Given the description of an element on the screen output the (x, y) to click on. 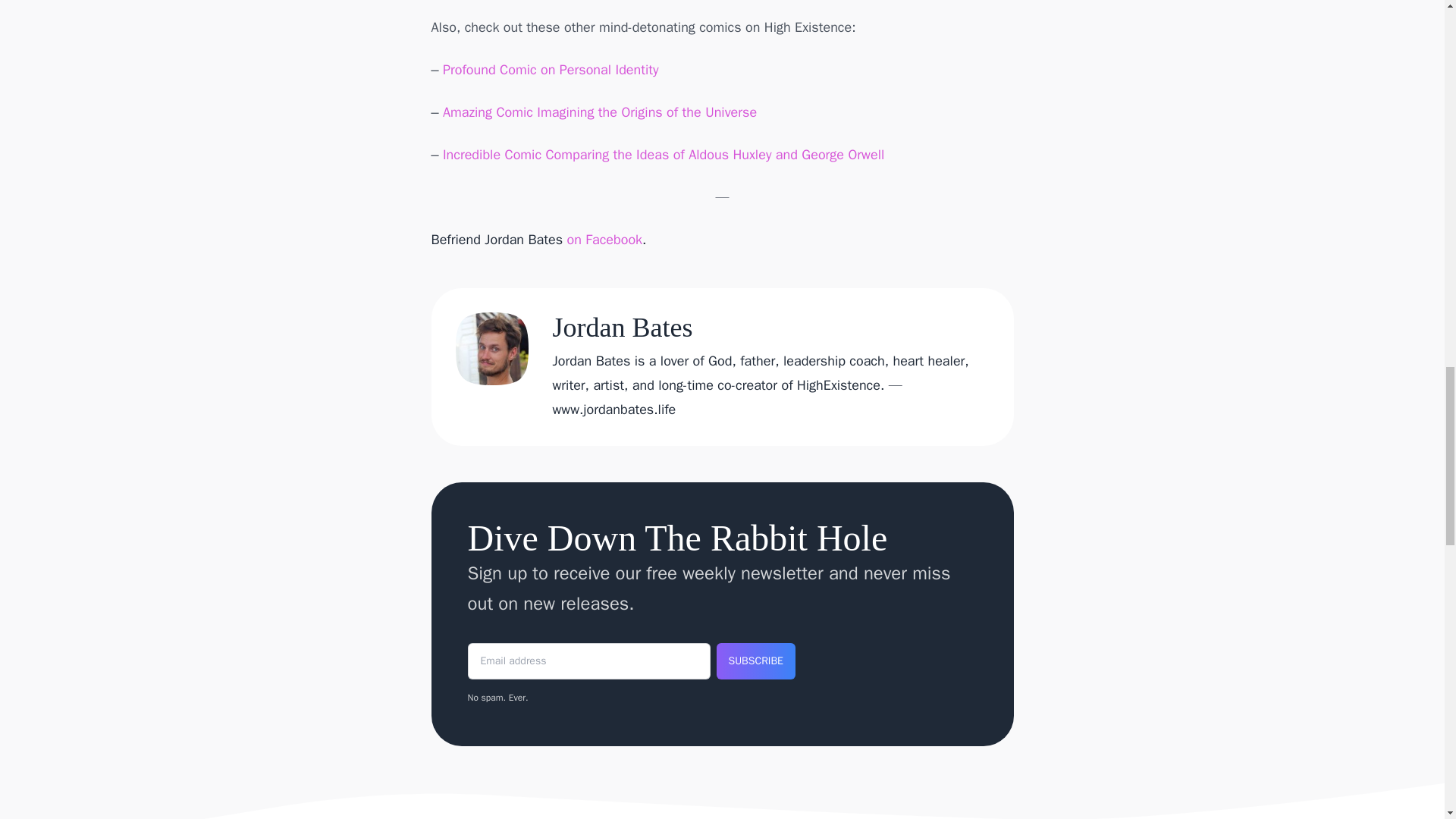
Jordan Bates (622, 327)
Amazing Comic Imagining the Origins of the Universe (599, 112)
on Facebook (605, 239)
SUBSCRIBE (755, 660)
Profound Comic on Personal Identity (550, 69)
